Given the description of an element on the screen output the (x, y) to click on. 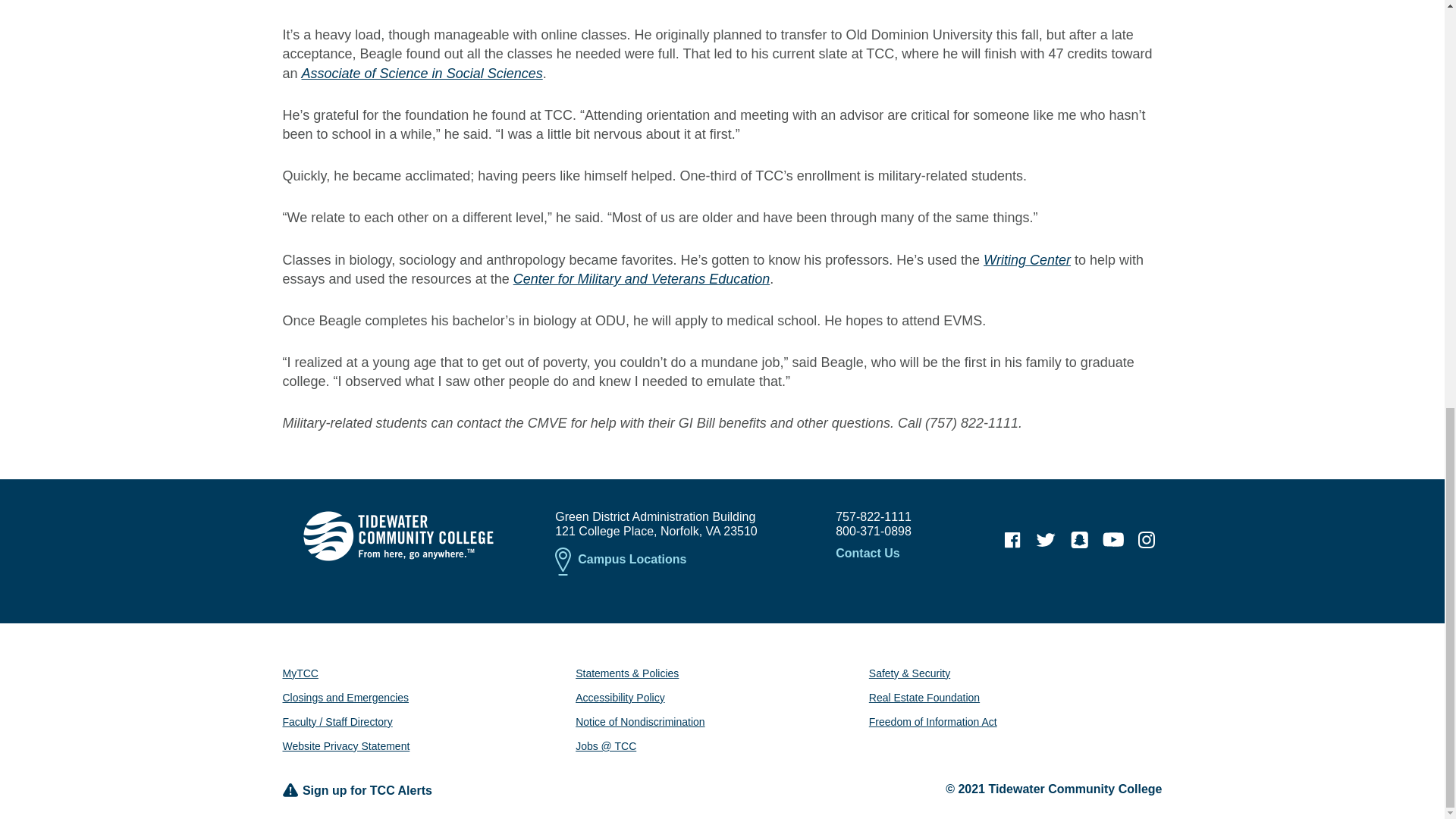
TCC on YouTube (1112, 539)
TCC on Twitter (1045, 539)
TCC on Snapchat (1079, 539)
TCC on Instagram (1146, 539)
Tidewater Community College (398, 535)
TCC on Facebook (1012, 539)
